Given the description of an element on the screen output the (x, y) to click on. 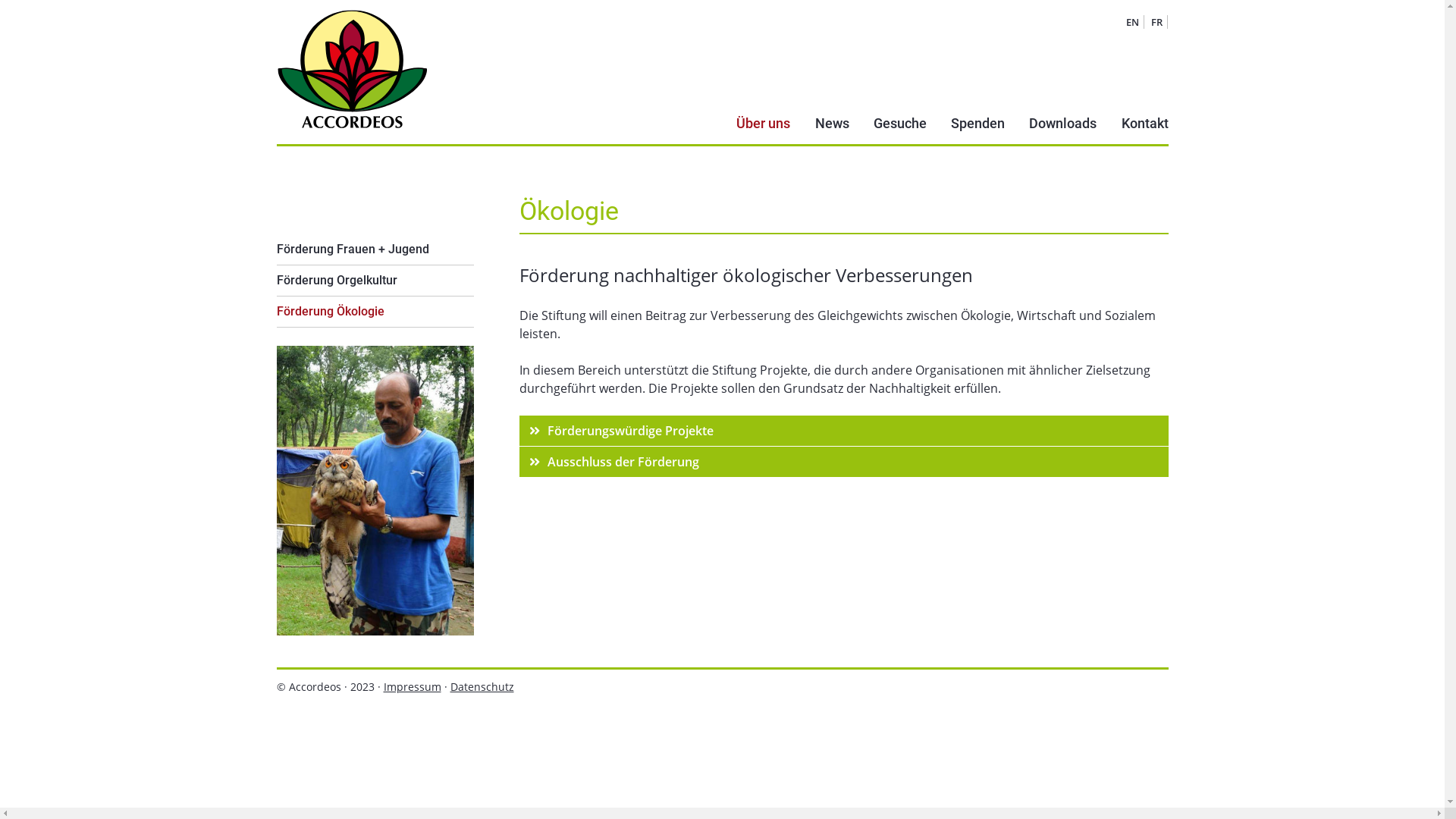
Spenden Element type: text (977, 123)
Impressum Element type: text (412, 686)
  Element type: text (276, 326)
Downloads Element type: text (1062, 123)
FR Element type: text (1156, 21)
Gesuche Element type: text (899, 123)
Datenschutz Element type: text (482, 686)
News Element type: text (831, 123)
EN Element type: text (1131, 21)
Kontakt Element type: text (1143, 123)
